Given the description of an element on the screen output the (x, y) to click on. 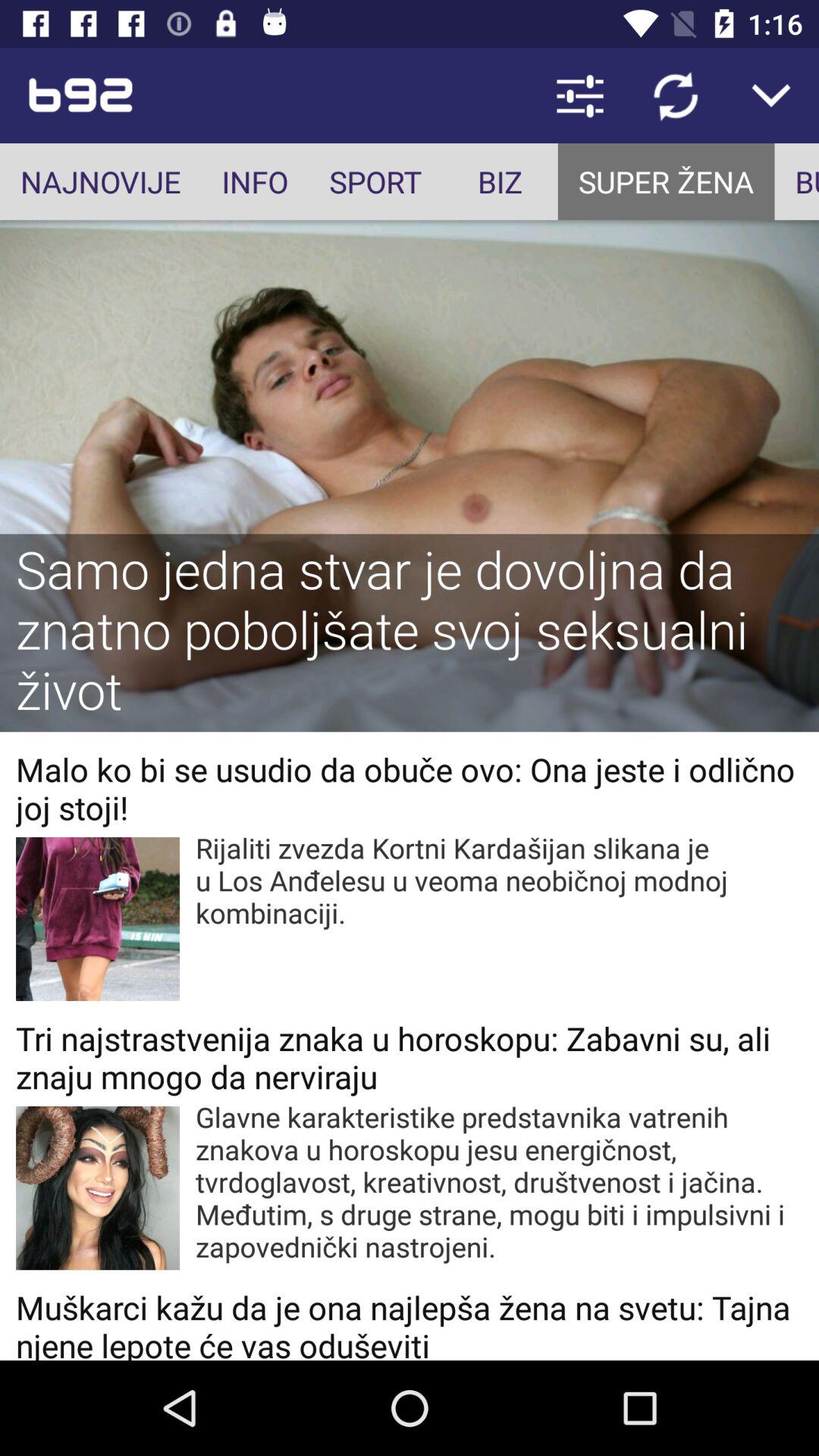
swipe to the glavne karakteristike predstavnika app (499, 1181)
